Given the description of an element on the screen output the (x, y) to click on. 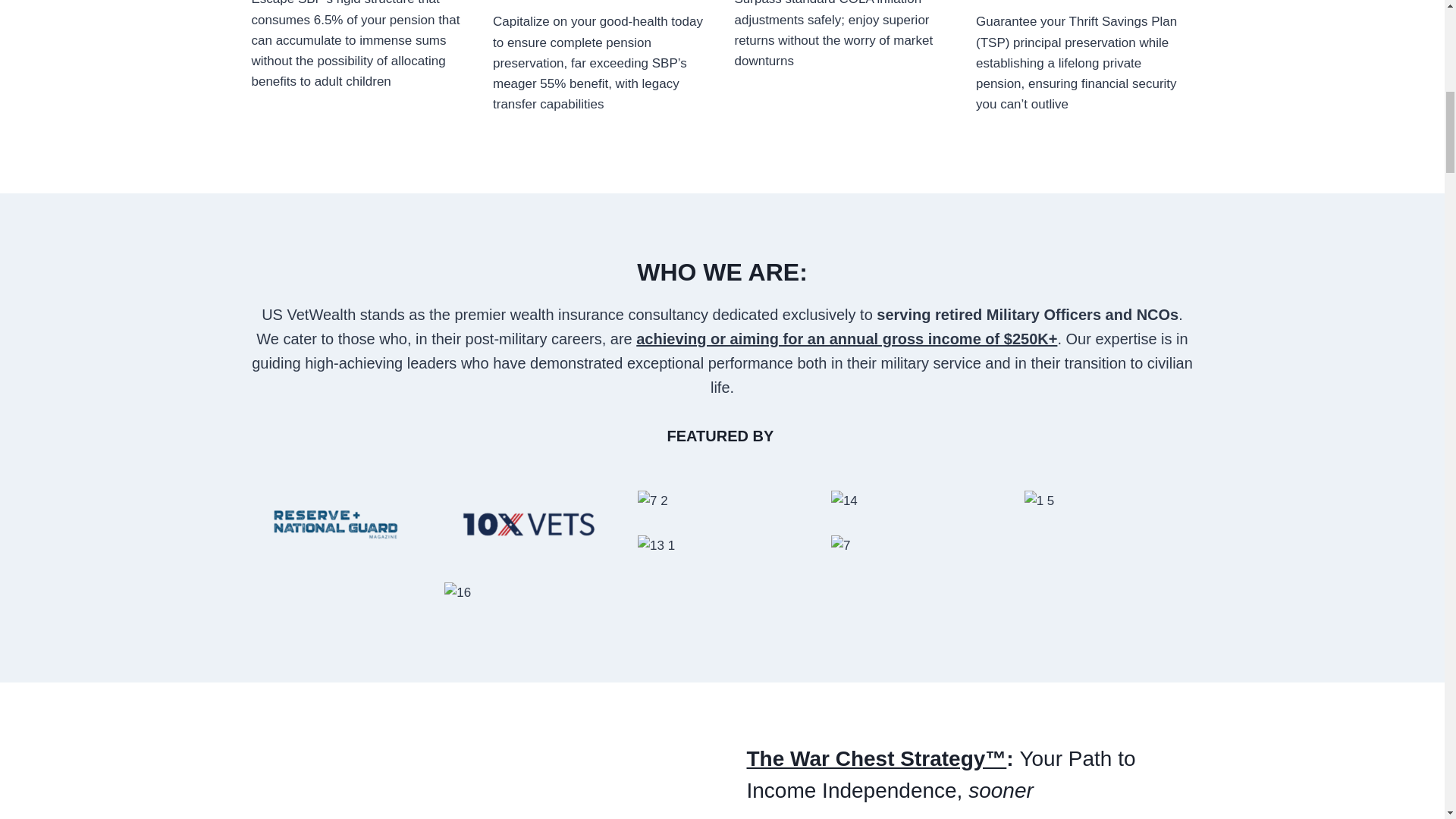
7 (721, 500)
10 (915, 568)
4 (335, 523)
14 (915, 500)
6 (528, 523)
1 (1109, 500)
13 (721, 545)
16 (528, 592)
